Given the description of an element on the screen output the (x, y) to click on. 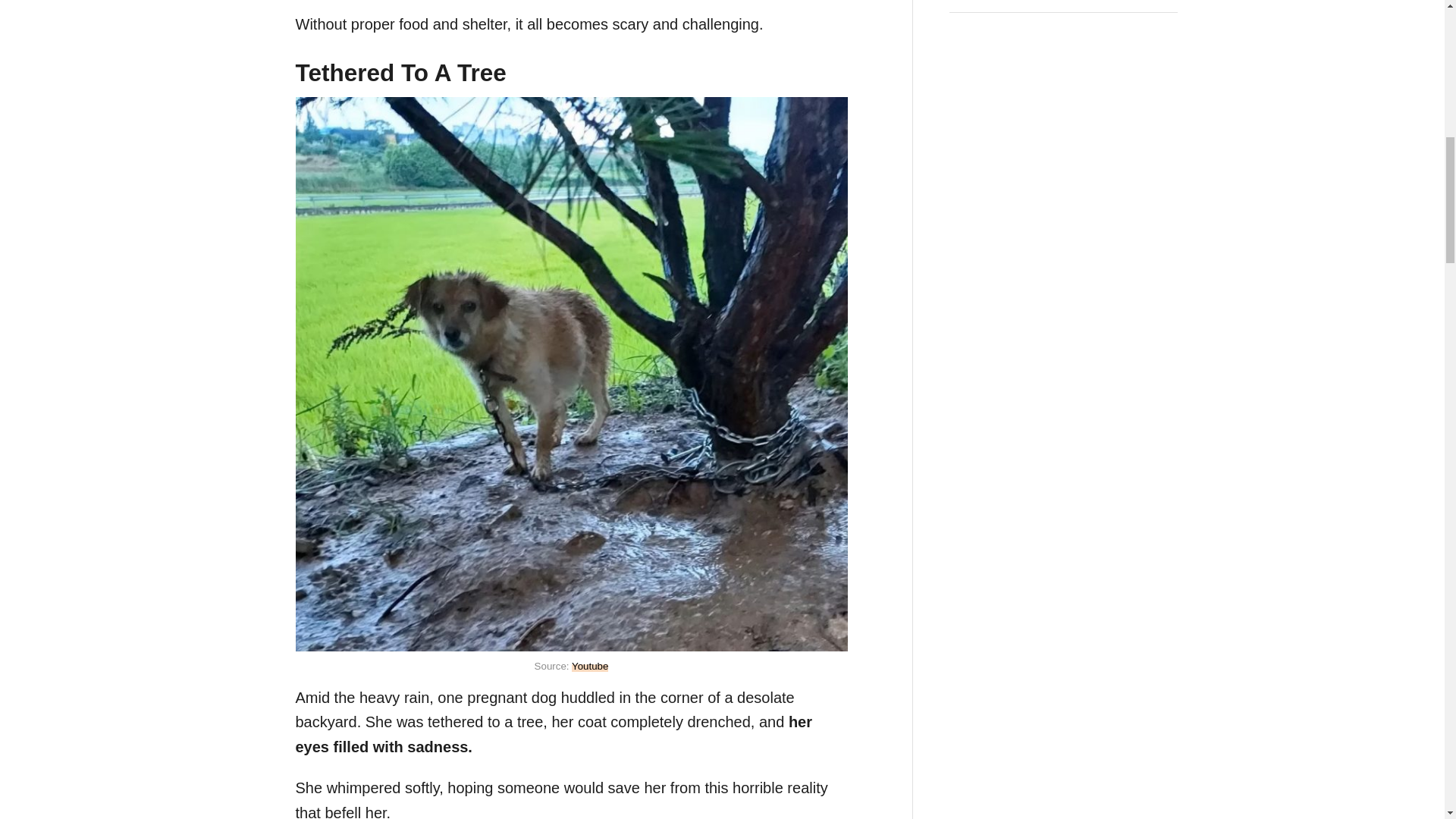
Youtube (590, 665)
